Given the description of an element on the screen output the (x, y) to click on. 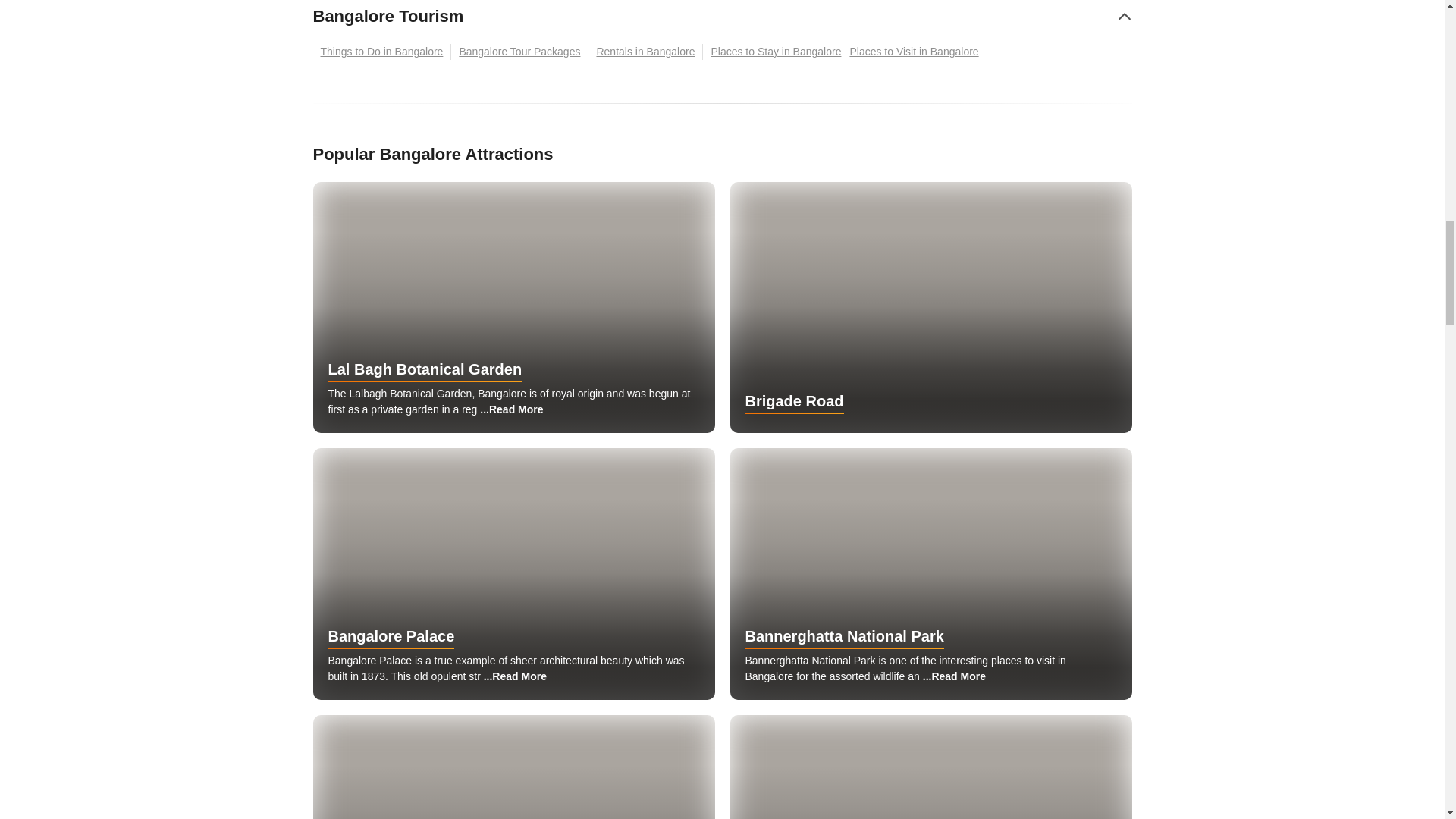
Places to Stay in Bangalore (775, 51)
Things to Do in Bangalore (382, 51)
Rentals in Bangalore (645, 51)
Bangalore Tour Packages (519, 51)
Places to Visit in Bangalore (916, 51)
Brigade Road (930, 307)
